Given the description of an element on the screen output the (x, y) to click on. 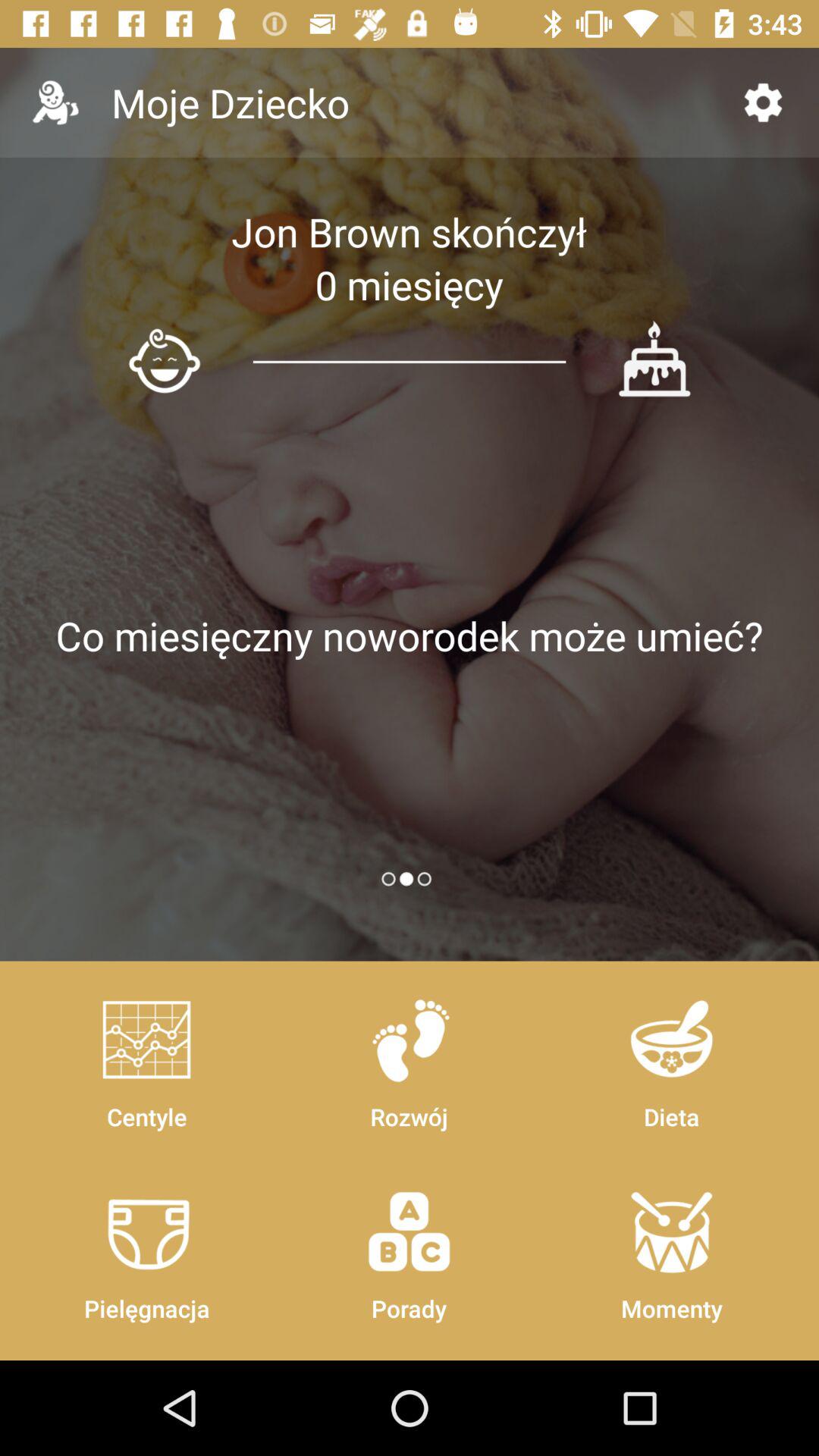
tap the icon next to dieta icon (409, 1248)
